Given the description of an element on the screen output the (x, y) to click on. 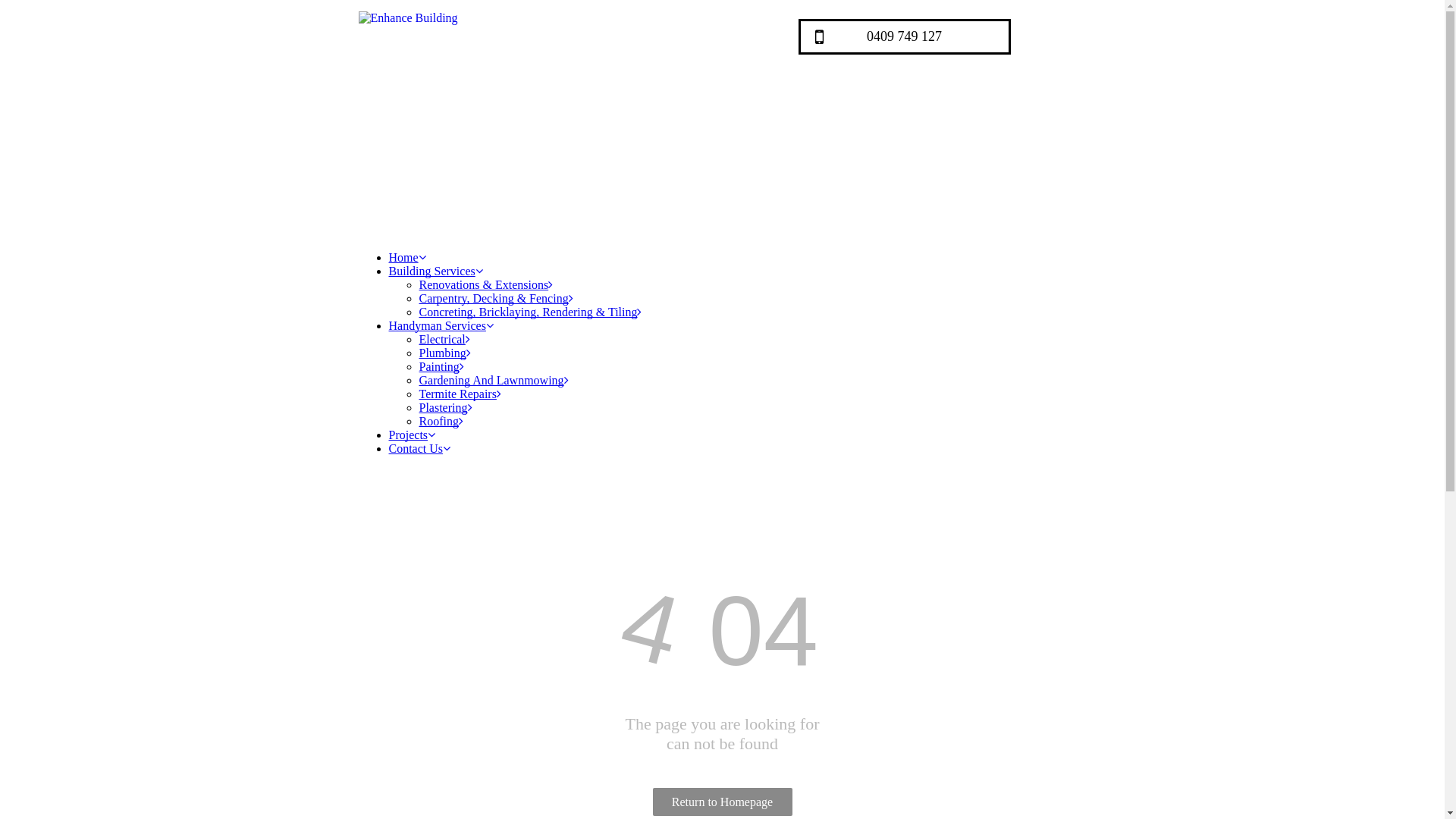
Enhance Building Element type: hover (539, 113)
Home Element type: text (406, 257)
Projects Element type: text (411, 434)
Gardening And Lawnmowing Element type: text (492, 379)
Plastering Element type: text (444, 407)
Painting Element type: text (440, 366)
Plumbing Element type: text (444, 352)
Handyman Services Element type: text (440, 325)
Building Services Element type: text (435, 270)
Roofing Element type: text (440, 420)
Return to Homepage Element type: text (721, 801)
Carpentry, Decking & Fencing Element type: text (495, 297)
Concreting, Bricklaying, Rendering & Tiling Element type: text (529, 311)
Electrical Element type: text (443, 338)
0409 749 127 Element type: text (903, 36)
Termite Repairs Element type: text (459, 393)
Contact Us Element type: text (419, 448)
Renovations & Extensions Element type: text (485, 284)
